Given the description of an element on the screen output the (x, y) to click on. 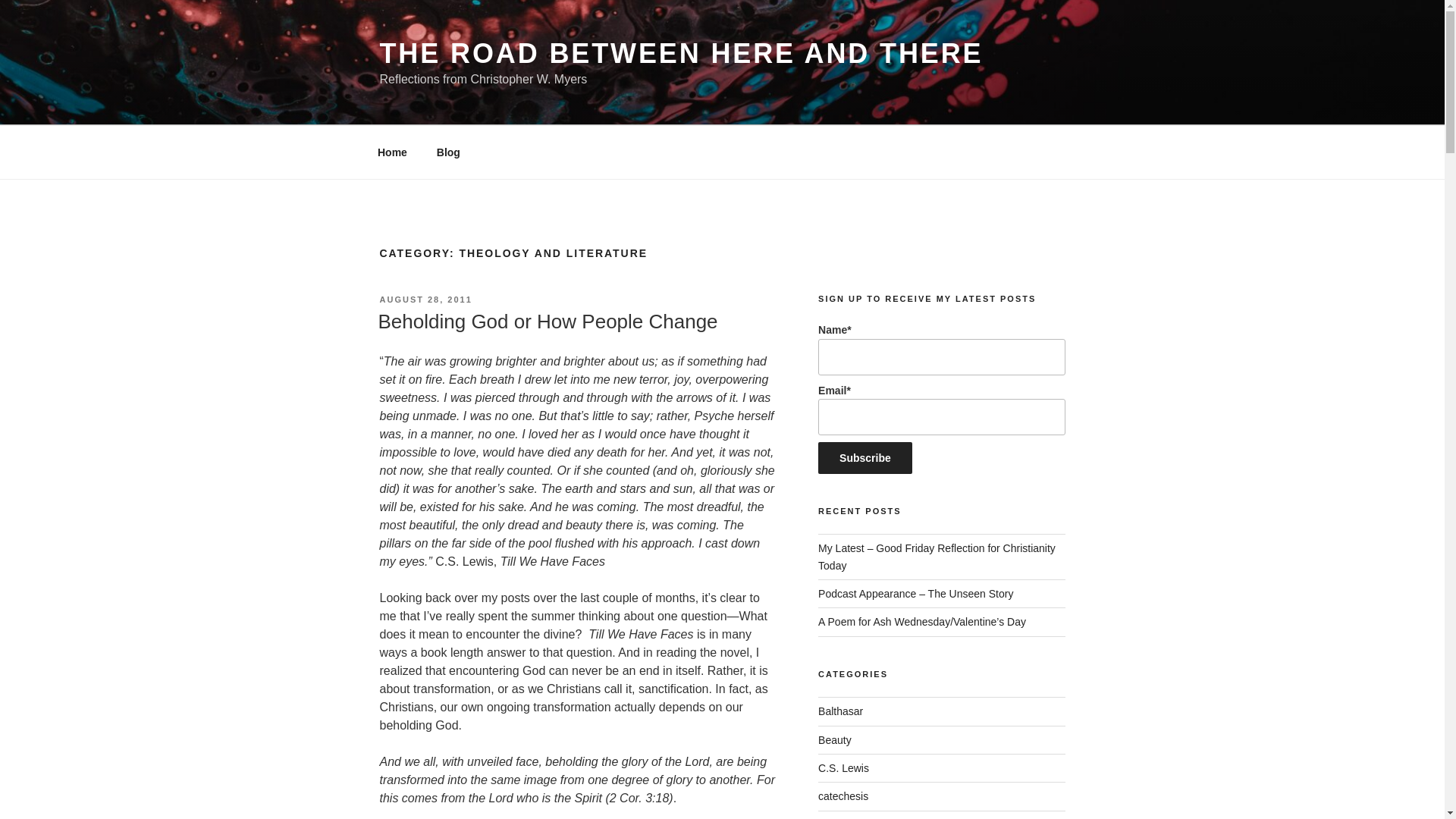
Balthasar (840, 711)
Subscribe (865, 458)
THE ROAD BETWEEN HERE AND THERE (680, 52)
Beauty (834, 739)
Beholding God or How People Change (547, 321)
Subscribe (865, 458)
Home (392, 151)
AUGUST 28, 2011 (424, 298)
Blog (448, 151)
catechesis (842, 796)
C.S. Lewis (843, 767)
